Given the description of an element on the screen output the (x, y) to click on. 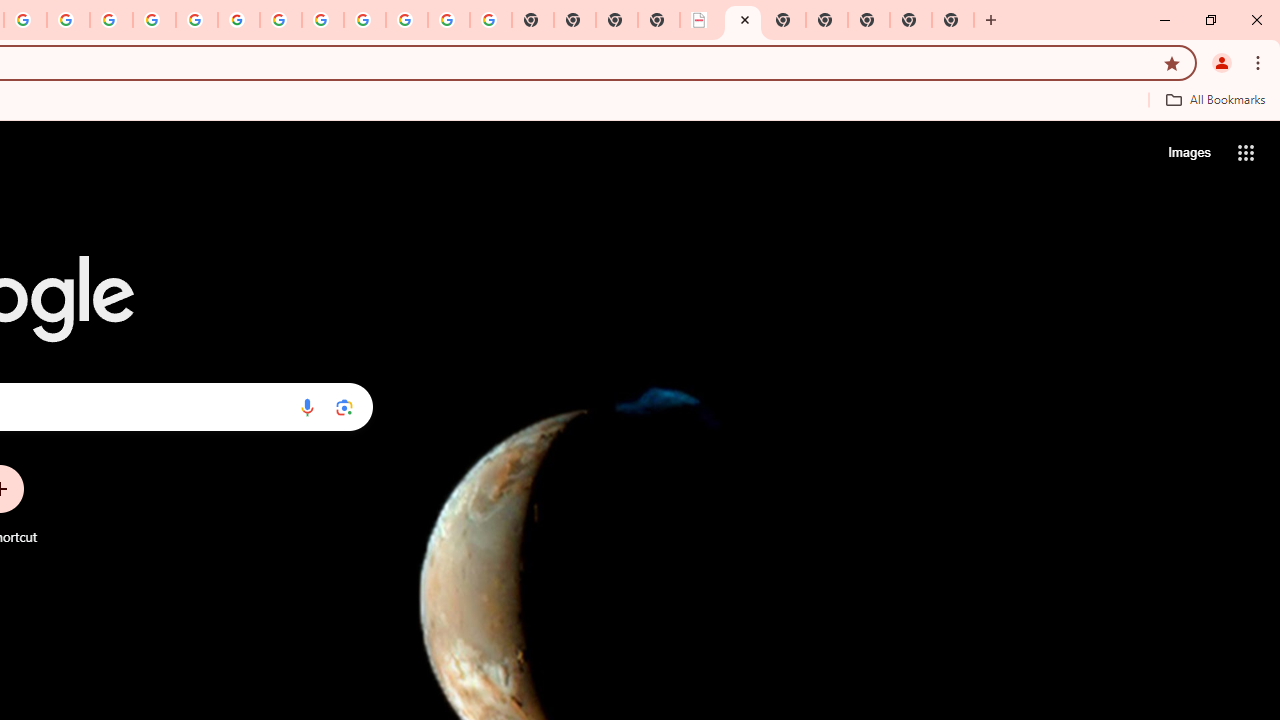
New Tab (868, 20)
Search for Images  (1188, 152)
Search by voice (307, 407)
New Tab (827, 20)
Search by image (344, 407)
YouTube (280, 20)
Browse Chrome as a guest - Computer - Google Chrome Help (323, 20)
